Given the description of an element on the screen output the (x, y) to click on. 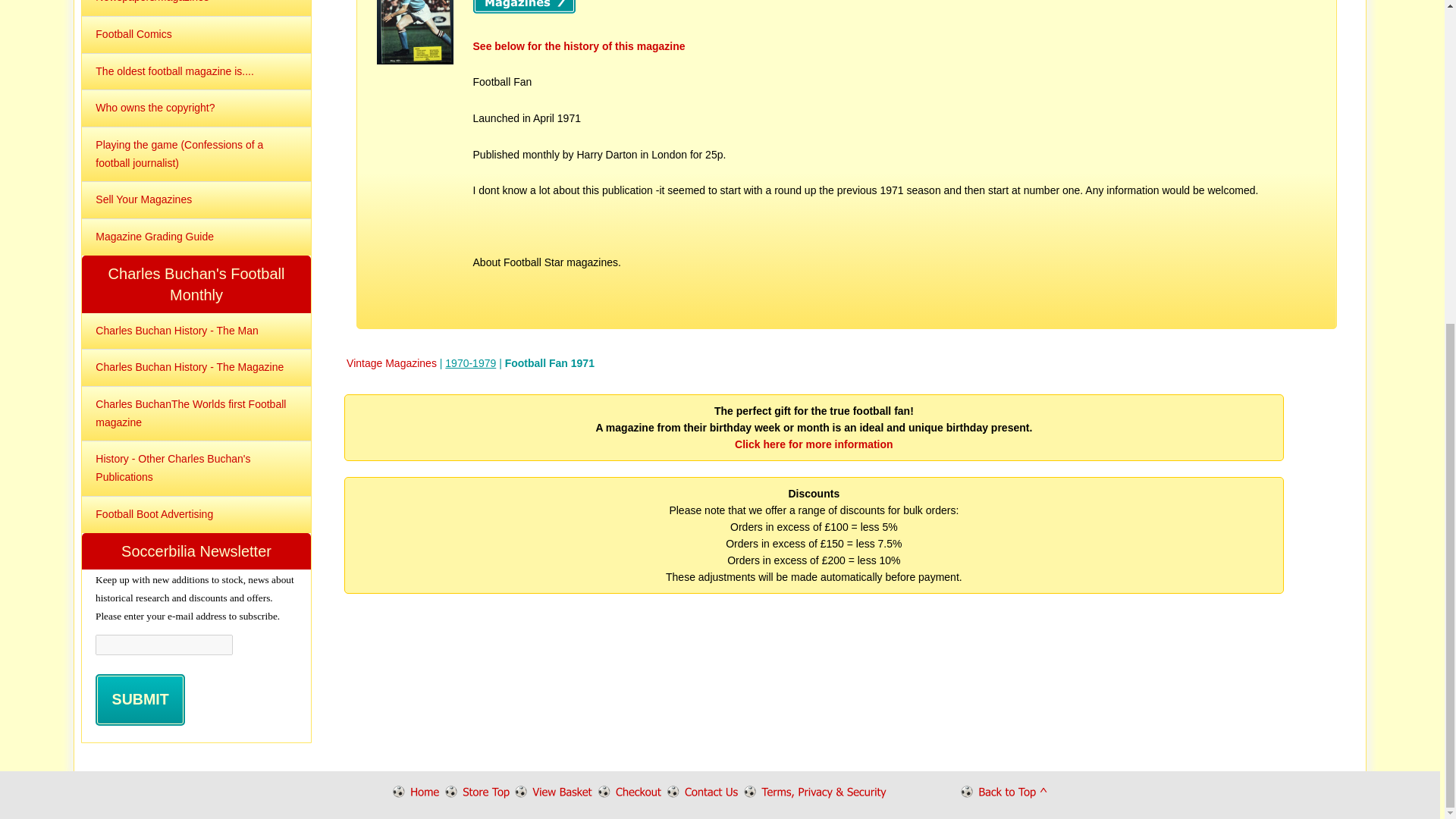
Submit (140, 700)
